Given the description of an element on the screen output the (x, y) to click on. 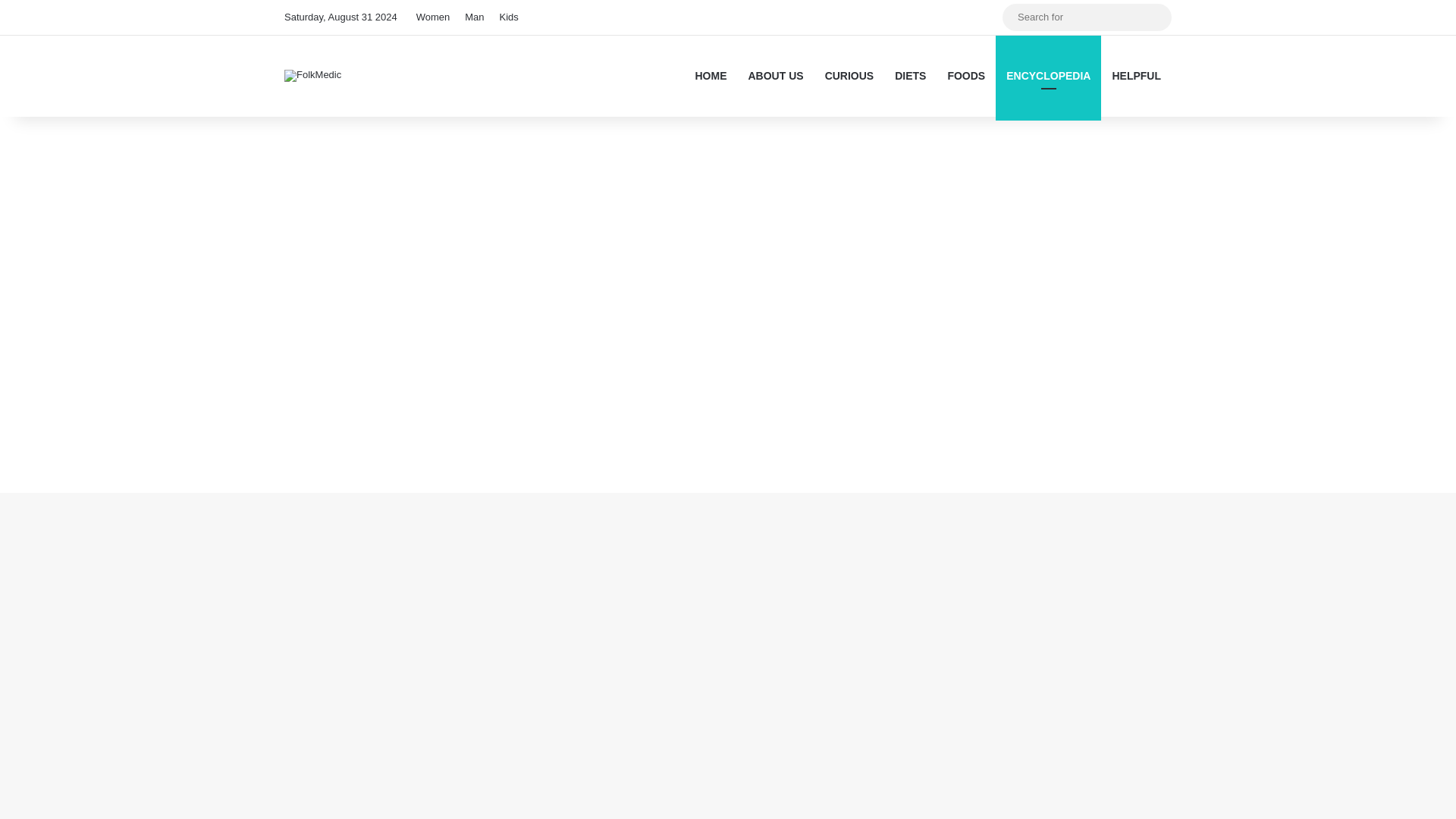
Kids (508, 17)
FolkMedic (311, 75)
ENCYCLOPEDIA (1047, 76)
Search for (1156, 17)
Women (433, 17)
Search for (1087, 17)
Man (474, 17)
ABOUT US (774, 76)
